Given the description of an element on the screen output the (x, y) to click on. 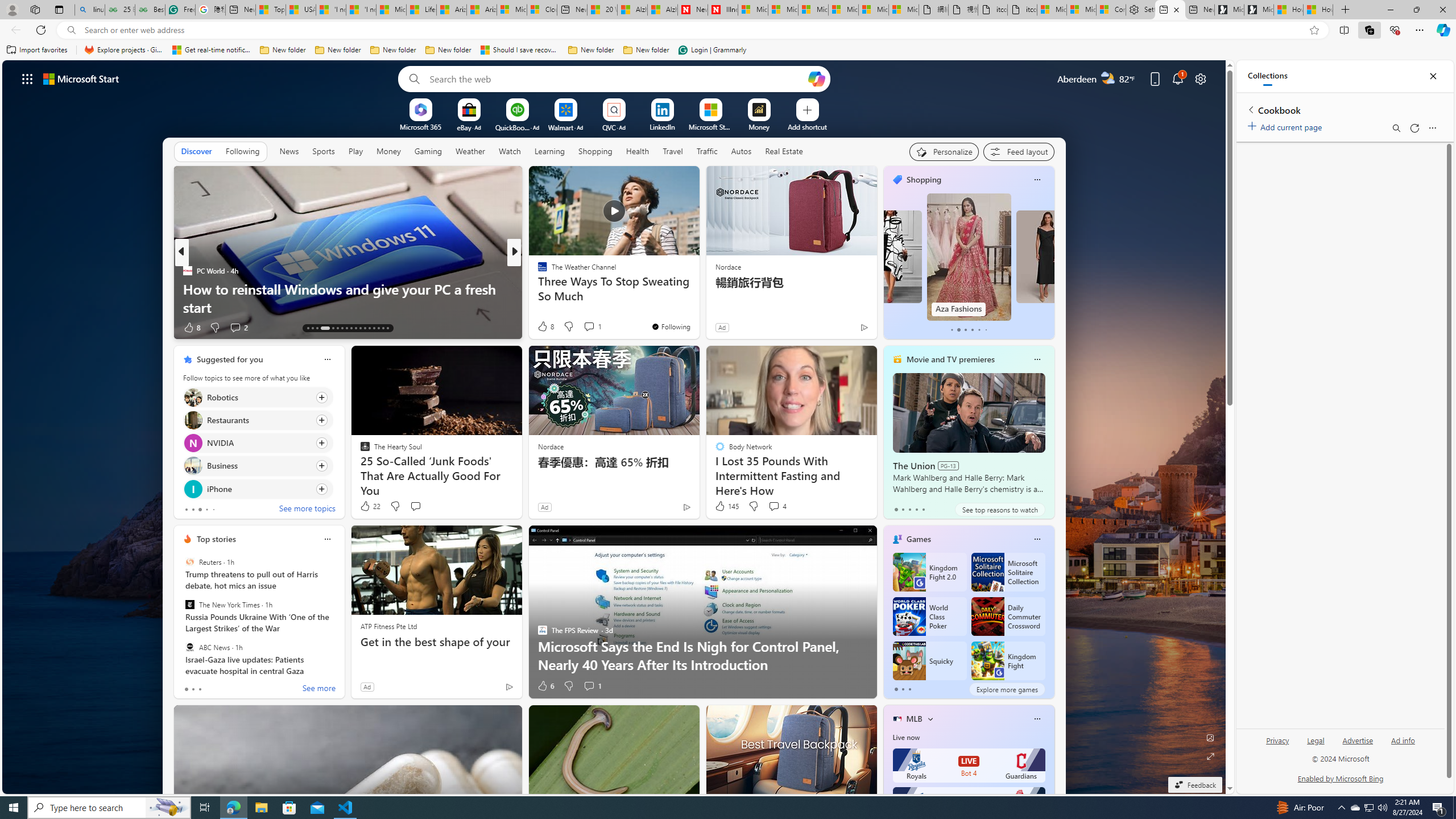
Best SSL Certificates Provider in India - GeeksforGeeks (149, 9)
AutomationID: tab-16 (324, 328)
Gaming (428, 151)
Feedback (1194, 784)
PC World (187, 270)
244 Like (545, 327)
Free AI Writing Assistance for Students | Grammarly (180, 9)
View comments 4 Comment (773, 505)
Microsoft start (81, 78)
